Given the description of an element on the screen output the (x, y) to click on. 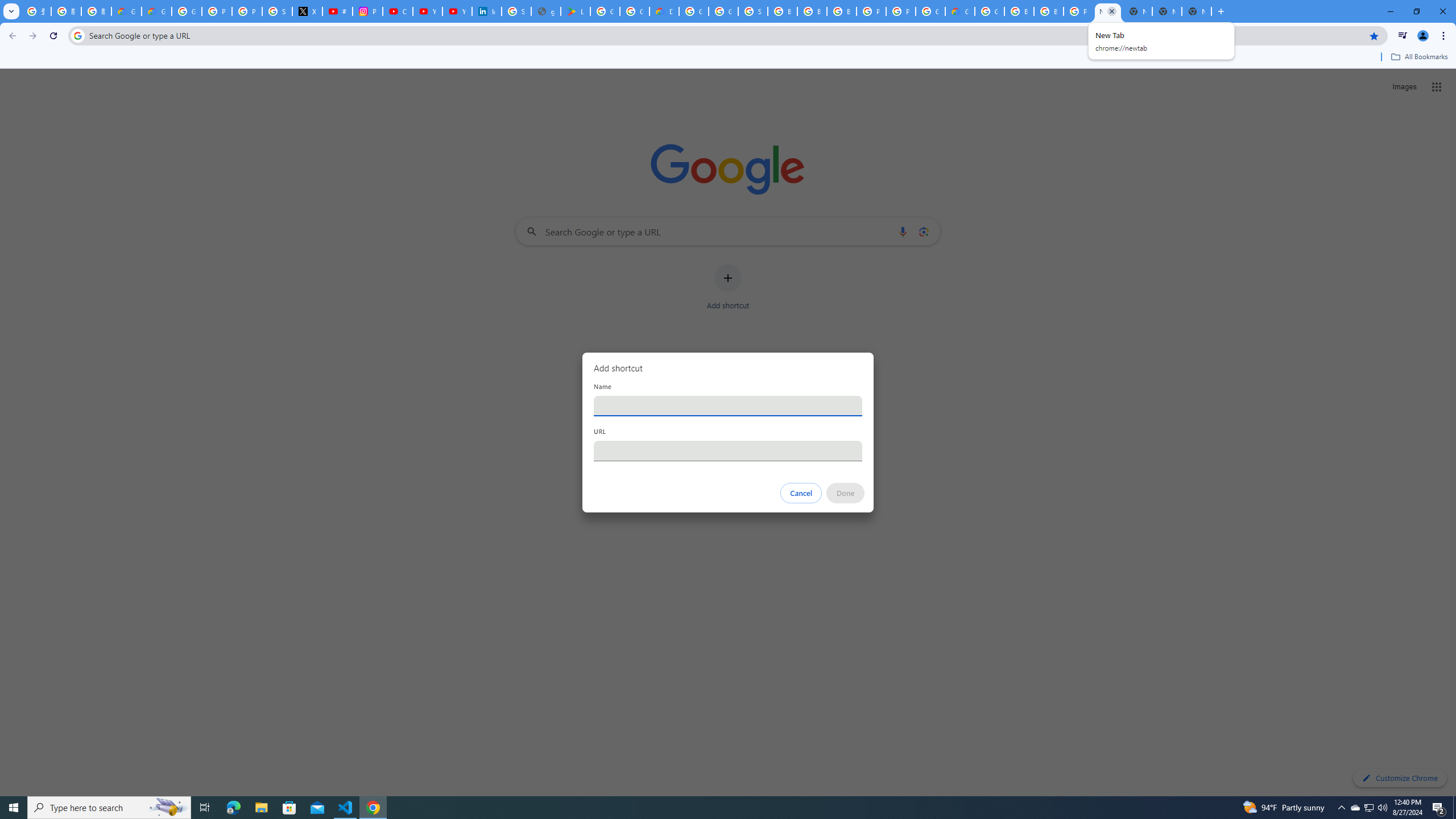
Browse Chrome as a guest - Computer - Google Chrome Help (782, 11)
Google Cloud Platform (930, 11)
Google Workspace - Specific Terms (634, 11)
Name (727, 405)
All Bookmarks (1418, 56)
google_privacy_policy_en.pdf (545, 11)
#nbabasketballhighlights - YouTube (337, 11)
